Given the description of an element on the screen output the (x, y) to click on. 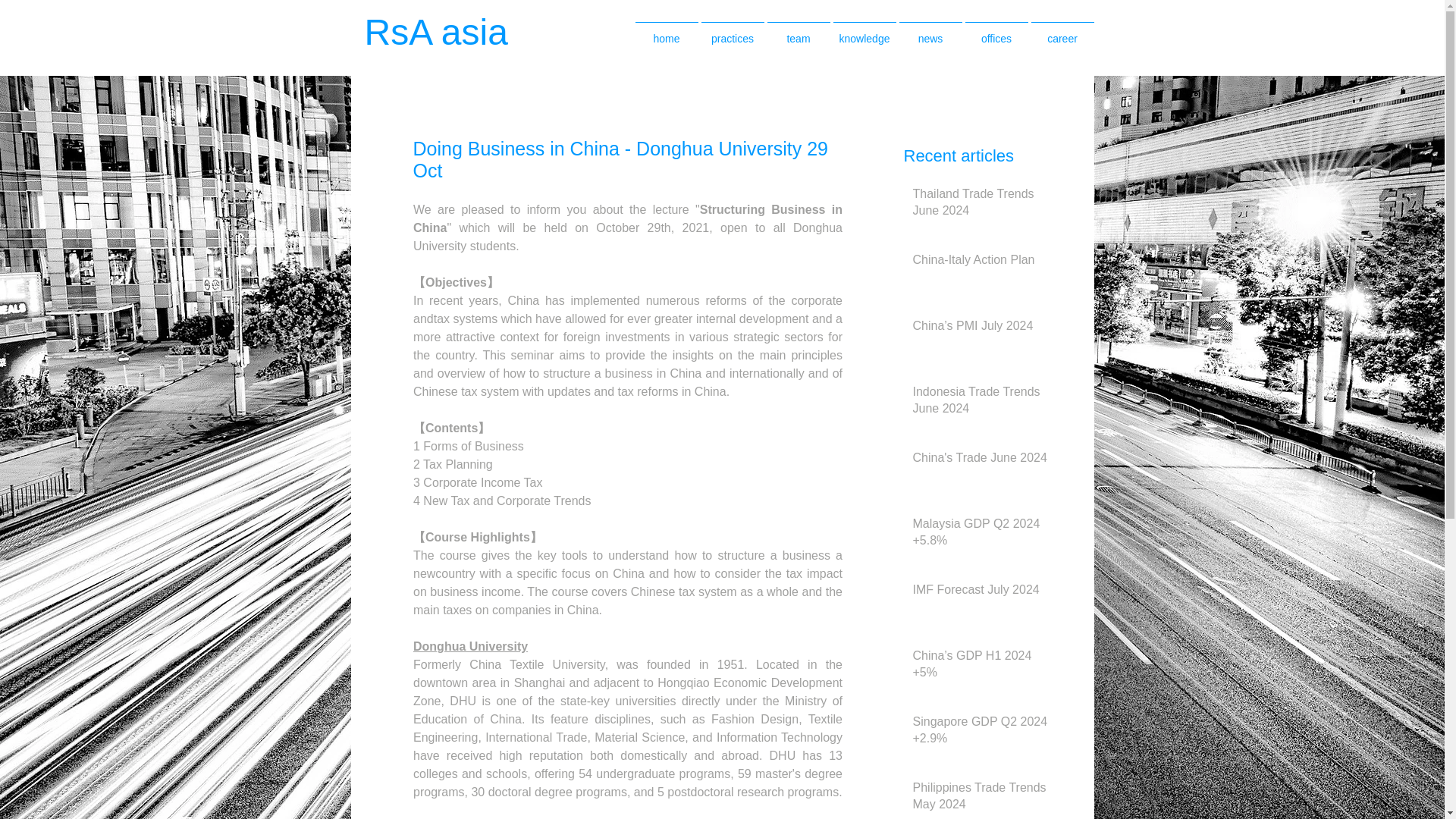
China-Italy Action Plan (981, 262)
practices (731, 31)
knowledge (863, 31)
offices (995, 31)
team (798, 31)
China's Trade June 2024 (981, 460)
Thailand Trade Trends June 2024 (981, 205)
home (666, 31)
Philippines Trade Trends May 2024 (981, 799)
RsA asia (452, 31)
